Given the description of an element on the screen output the (x, y) to click on. 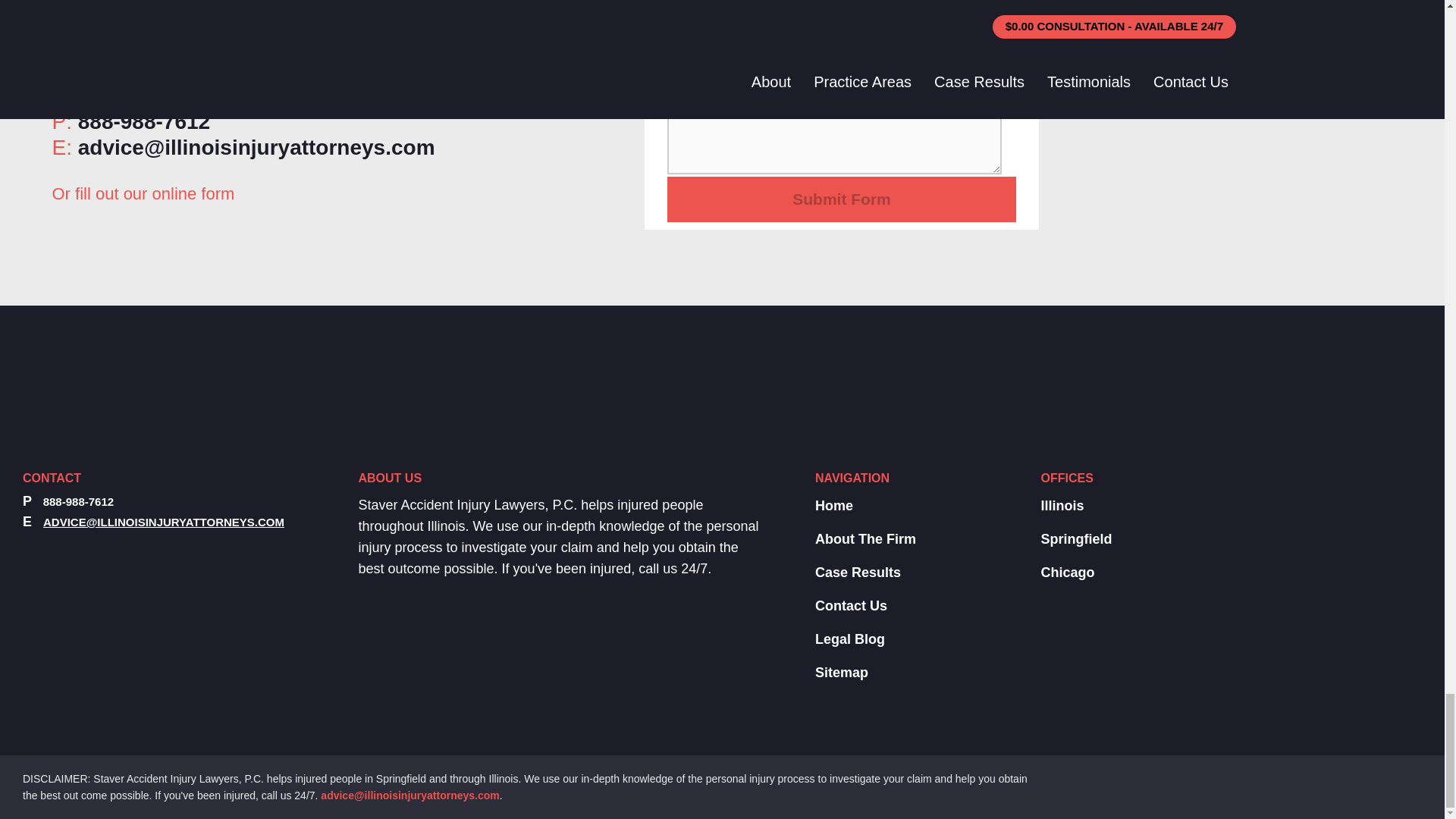
Submit Form (841, 198)
Email Staver Accident Injury Lawyers, P.C. (256, 147)
Call Staver Accident Injury Lawyers, P.C. (78, 501)
Email Staver Accident Injury Lawyers, P.C. (163, 521)
Call Staver Accident Injury Lawyers, P.C. (143, 121)
Contact Staver Accident Injury Lawyers, P.C. Today (409, 795)
